Given the description of an element on the screen output the (x, y) to click on. 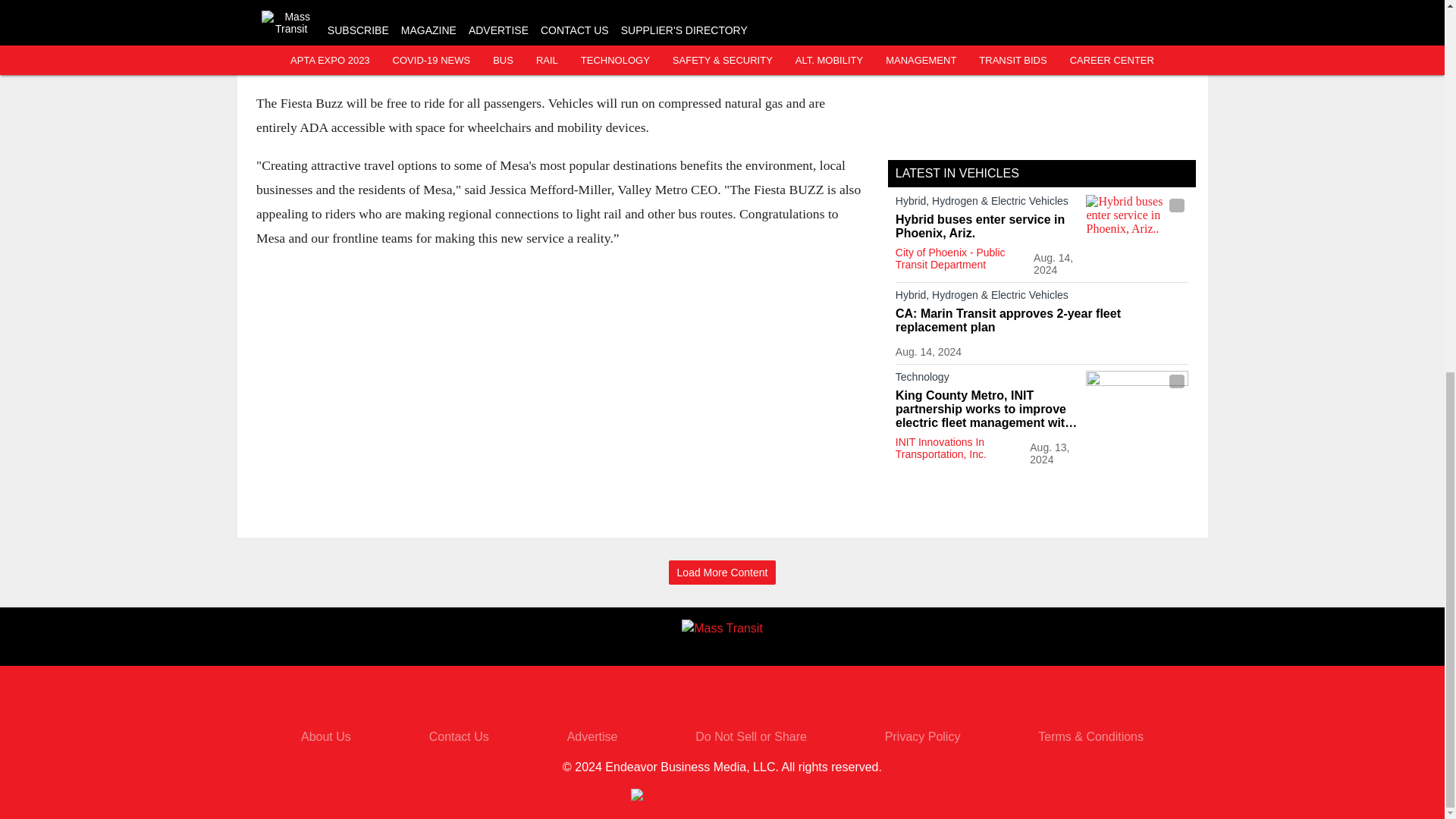
Hybrid buses enter service in Phoenix, Ariz. (986, 226)
CA: Marin Transit approves 2-year fleet replacement plan (1042, 320)
City of Phoenix - Public Transit Department (950, 258)
Hybrid buses enter service in Phoenix, Ariz.. (1137, 222)
INIT Innovations In Transportation, Inc. (941, 447)
LATEST IN VEHICLES (957, 173)
Technology (986, 380)
Load More Content (722, 572)
